Given the description of an element on the screen output the (x, y) to click on. 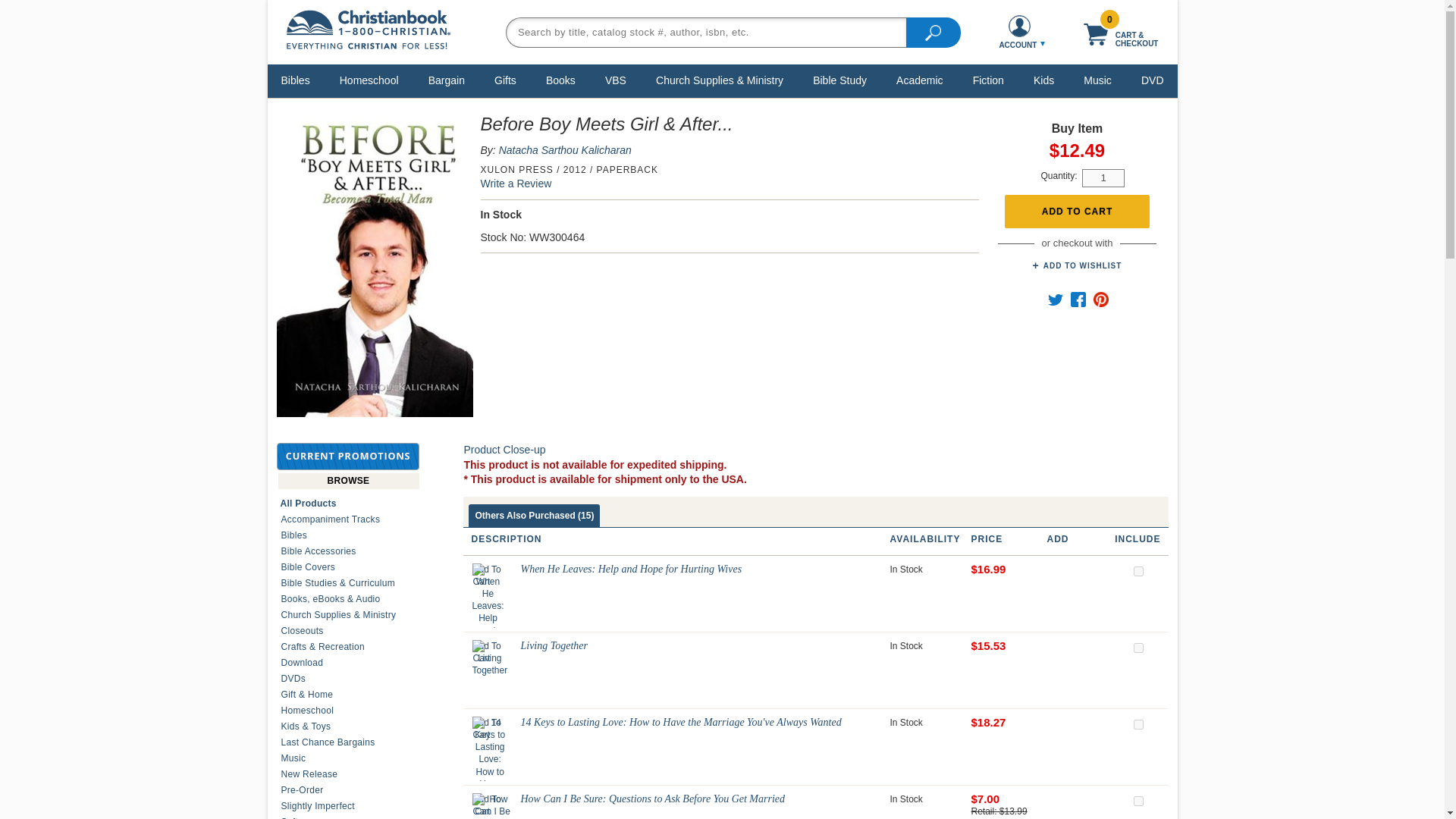
Homeschool (369, 79)
Living Together (489, 657)
Write a Review (515, 183)
Fiction (988, 79)
SEARCH (932, 31)
1 (1102, 177)
How Can I Be Sure: Questions to Ask Before You Get  Married (492, 806)
00381 (1137, 800)
Music (1097, 79)
ACCOUNT (1019, 32)
